Given the description of an element on the screen output the (x, y) to click on. 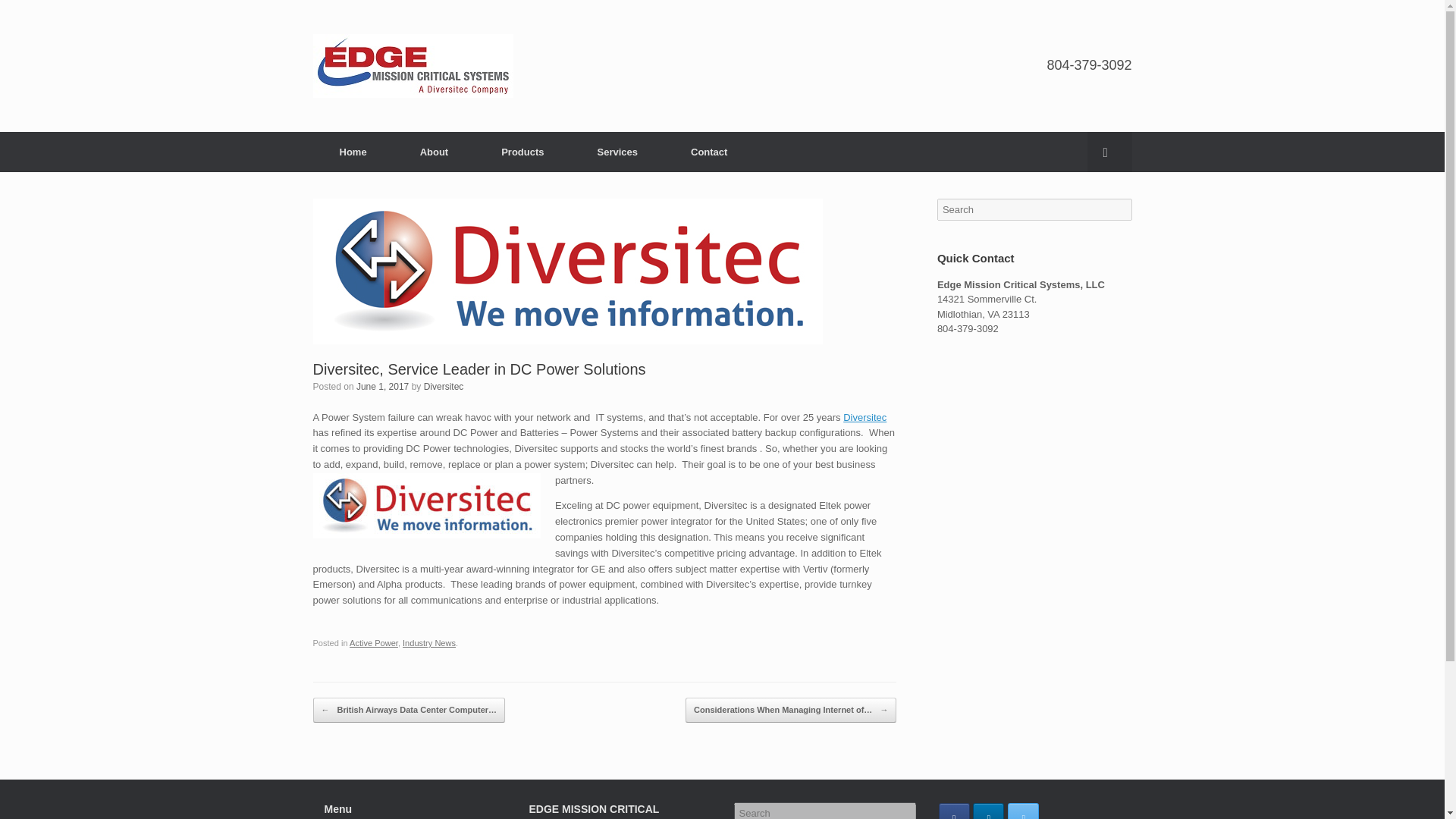
6:00 PM (382, 386)
EdgeMCS on Linkedin (988, 811)
Products (522, 151)
Diversitec (864, 416)
Industry News (429, 642)
About (434, 151)
EdgeMCS on Twitter (1023, 811)
Services (617, 151)
EdgeMCS on Facebook (954, 811)
June 1, 2017 (382, 386)
Active Power (373, 642)
Contact (708, 151)
Diversitec (443, 386)
View all posts by Diversitec (443, 386)
EdgeMCS (412, 65)
